Given the description of an element on the screen output the (x, y) to click on. 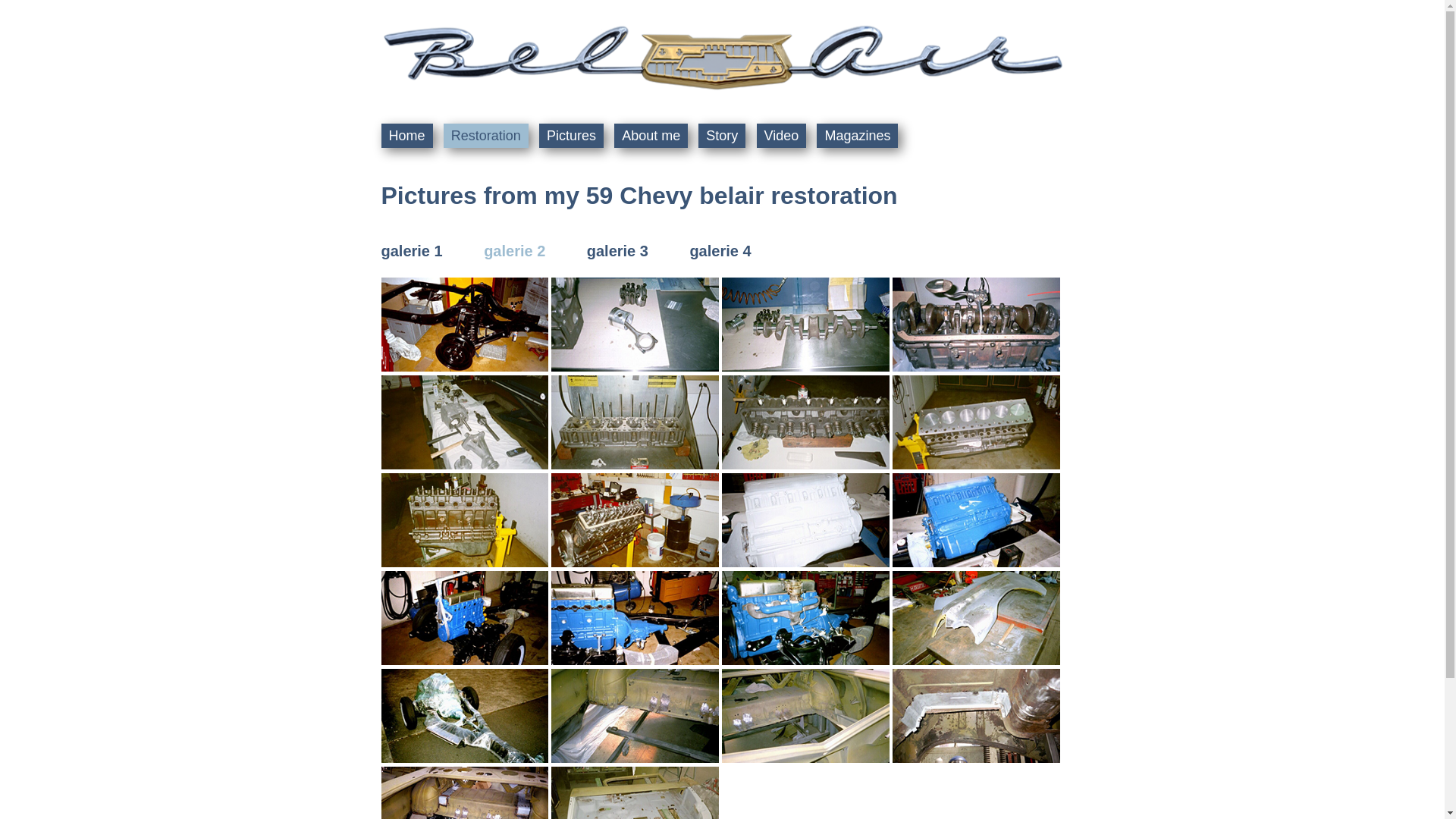
Pictures Element type: text (571, 135)
galerie 2 Element type: text (514, 250)
galerie 4 Element type: text (719, 250)
galerie 1 Element type: text (411, 250)
Home Element type: text (406, 135)
Video Element type: text (781, 135)
About me Element type: text (650, 135)
Restoration Element type: text (485, 135)
Magazines Element type: text (856, 135)
Logo von Chevy 59 belair Element type: hover (721, 58)
galerie 3 Element type: text (617, 250)
Story Element type: text (721, 135)
